Given the description of an element on the screen output the (x, y) to click on. 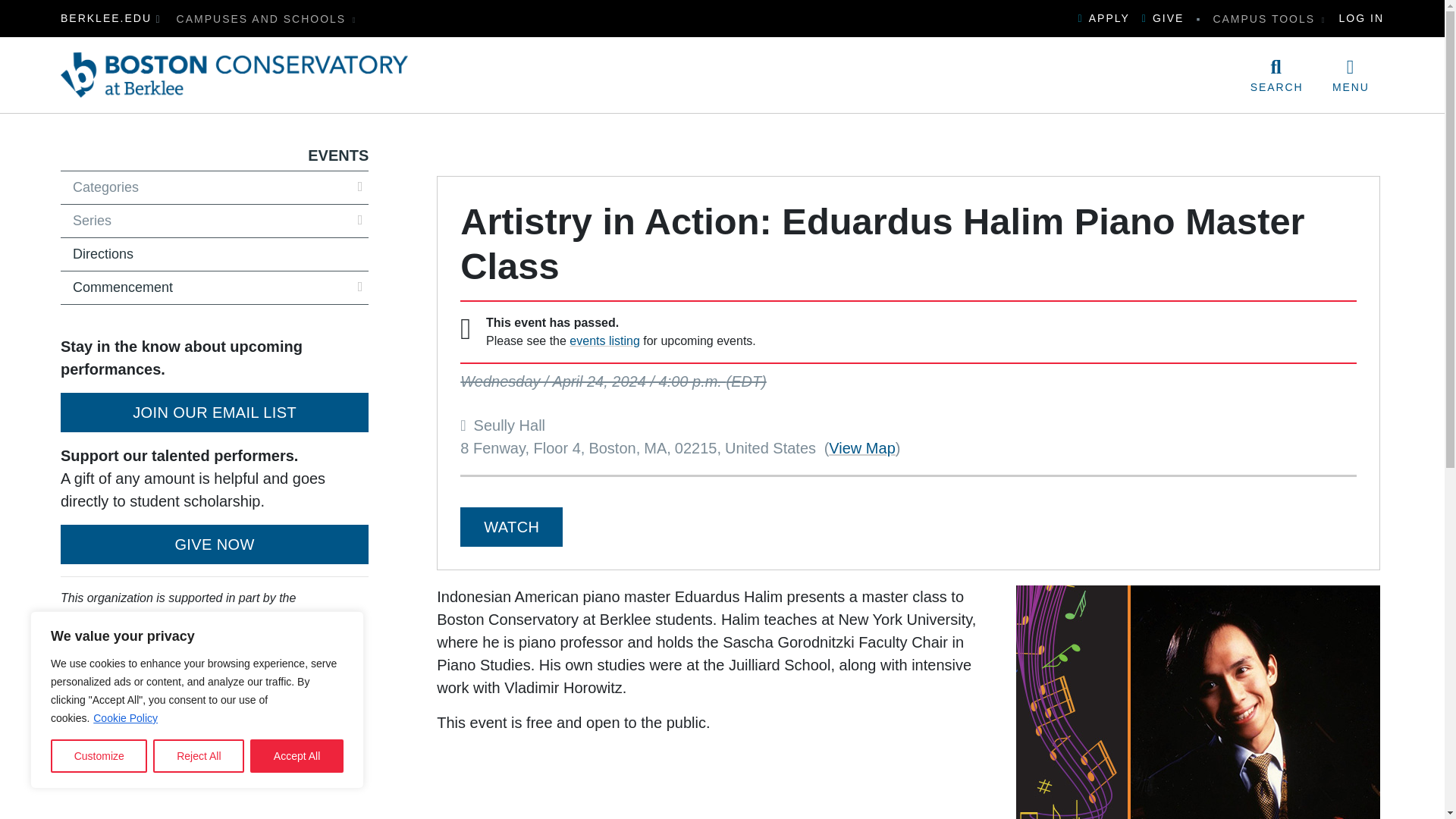
Accept All (296, 756)
GIVE (1163, 18)
BERKLEE.EDU (106, 18)
Cookie Policy (125, 717)
CAMPUSES AND SCHOOLS (267, 18)
Home (234, 75)
APPLY (1103, 18)
Customize (98, 756)
Reject All (198, 756)
CAMPUS TOOLS (1268, 18)
